Given the description of an element on the screen output the (x, y) to click on. 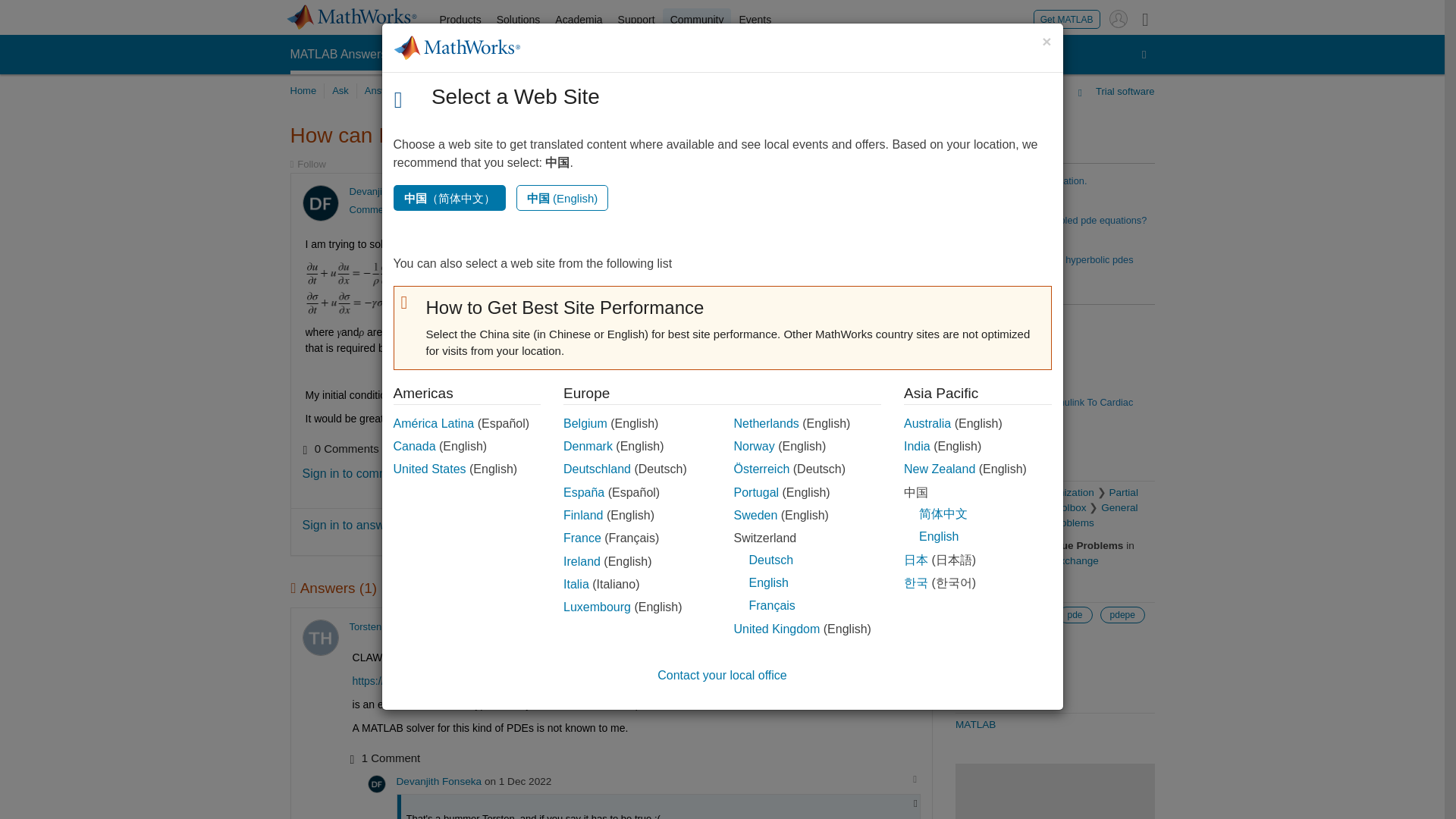
Get MATLAB (1066, 18)
Events (754, 19)
Sign In to Your MathWorks Account (1117, 18)
Sign in to follow activity (306, 163)
Direct link to this answer (906, 626)
Support (636, 19)
Sign in to vote for questions and answers (855, 627)
Sign in to vote for questions and answers (855, 193)
Solutions (518, 19)
Academia (578, 19)
Direct link to this question (906, 192)
Community (697, 19)
Products (460, 19)
